Given the description of an element on the screen output the (x, y) to click on. 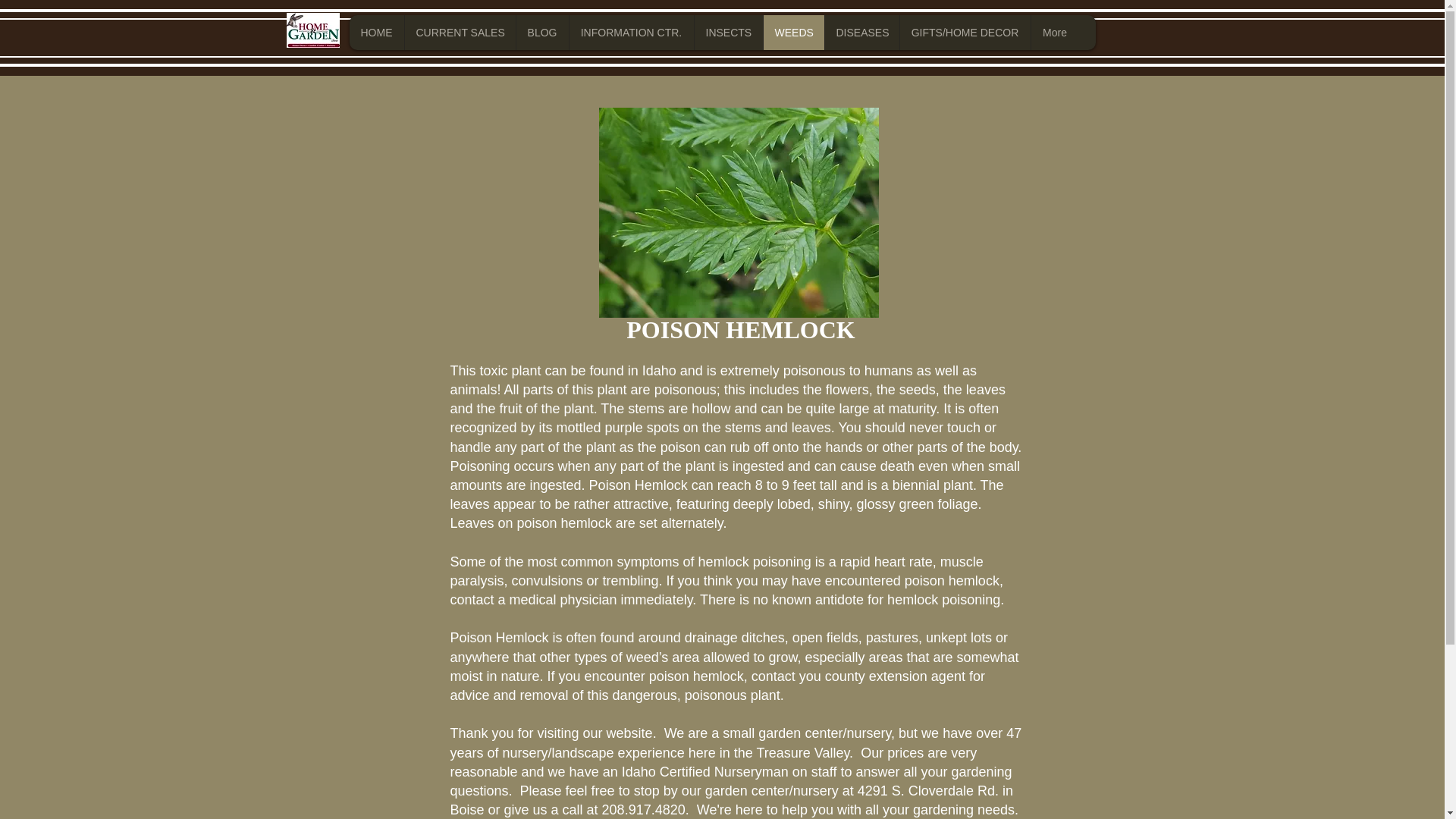
HOME (376, 32)
INFORMATION CTR. (631, 32)
INSECTS (727, 32)
WEEDS (793, 32)
BLOG (542, 32)
CURRENT SALES (459, 32)
Log In (1012, 24)
DISEASES (861, 32)
logo (312, 30)
